Given the description of an element on the screen output the (x, y) to click on. 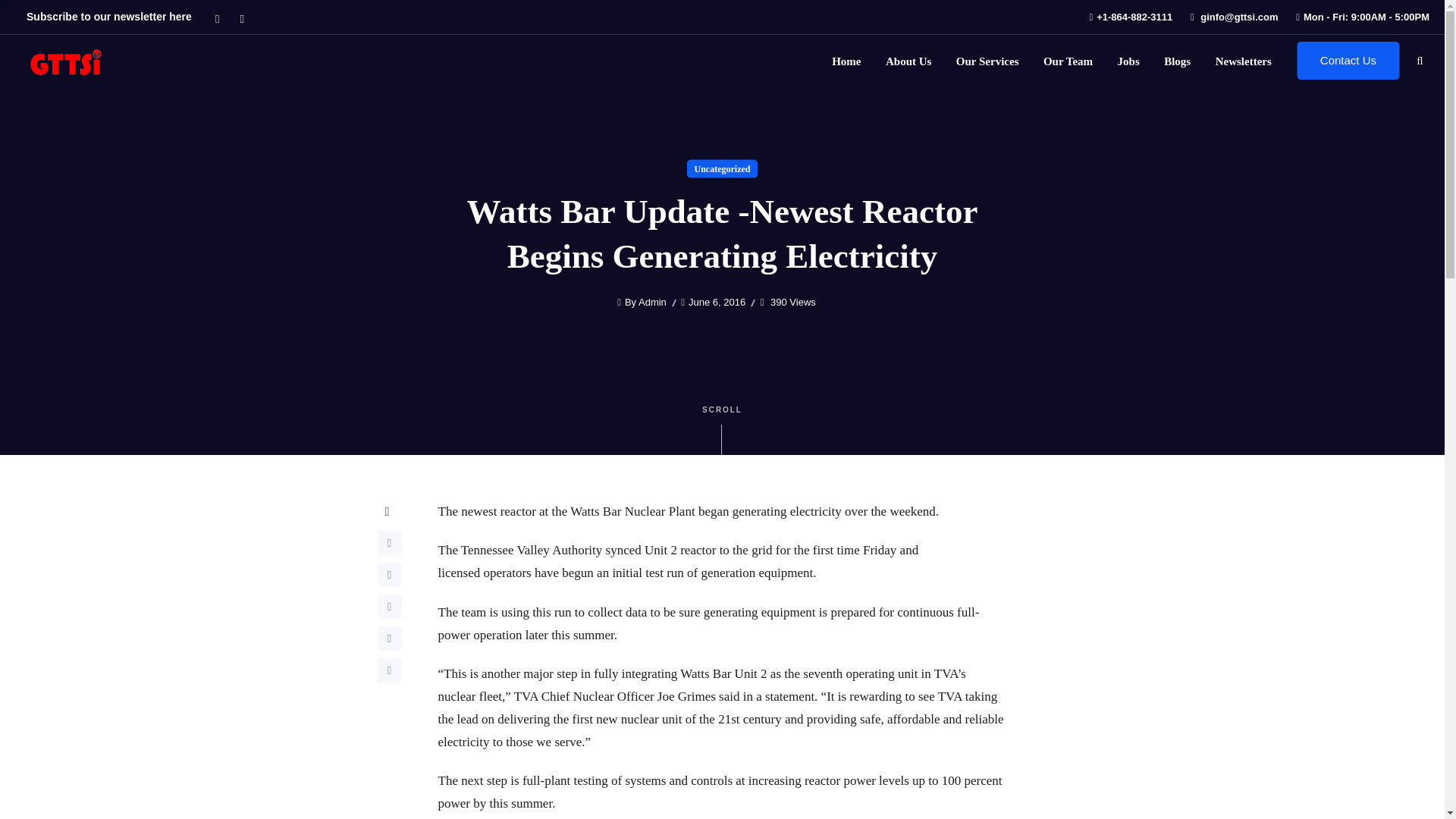
SCROLL (722, 425)
Subscribe to our newsletter here (109, 16)
Uncategorized (722, 168)
SCROLL (722, 426)
Our Services (987, 61)
linkedin (241, 17)
Tweet (389, 574)
Our Team (1068, 61)
LinkedIn (389, 606)
Facebook (389, 542)
Search (22, 18)
facebook (217, 17)
Newsletters (1243, 61)
